Given the description of an element on the screen output the (x, y) to click on. 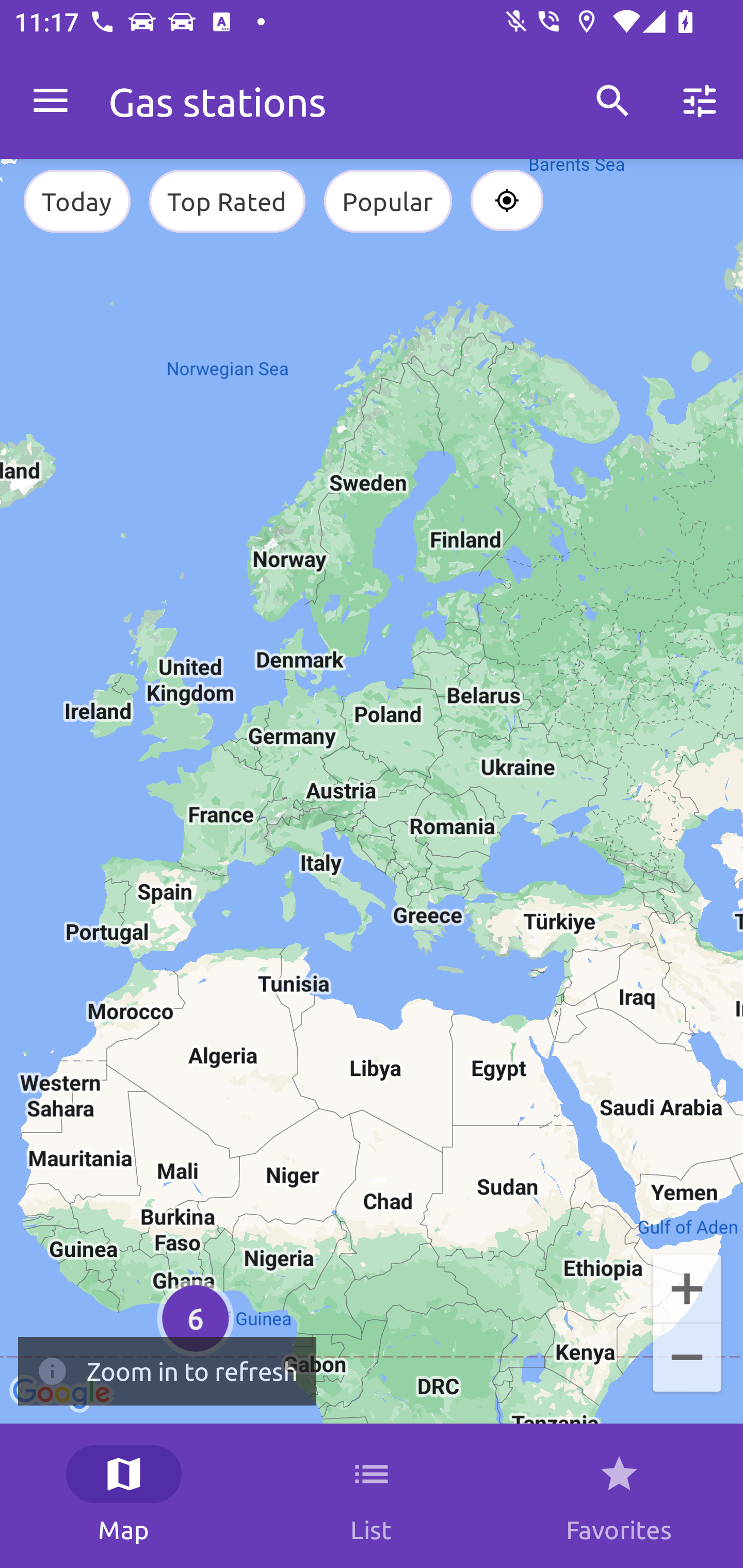
Fuelio (50, 101)
Search (612, 101)
Filter (699, 101)
Today (76, 201)
Top Rated (227, 201)
Popular (388, 201)
Selected (506, 201)
Zoom in (687, 1287)
Zoom out (687, 1359)
